Given the description of an element on the screen output the (x, y) to click on. 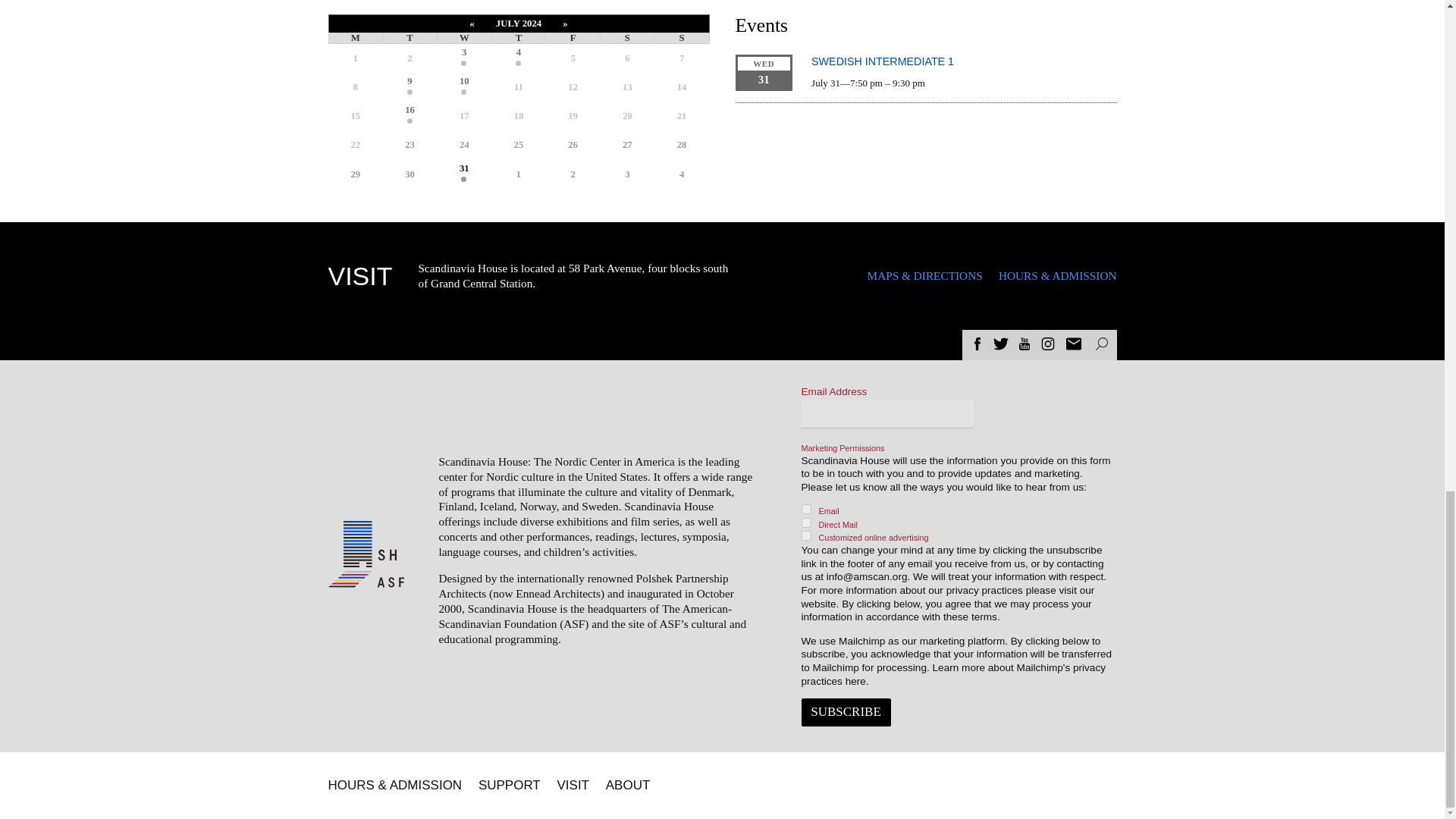
See Scandinavia House on Facebook (976, 345)
Twitter (1000, 343)
Y (805, 535)
Instagram (1048, 343)
YouTube (1023, 343)
Subscribe (844, 712)
Y (805, 509)
Newsletter (1073, 343)
Facebook (976, 343)
Visit American-Scandinavian Foundation (365, 588)
Search (1100, 343)
Y (805, 522)
Logo - Scandinavia House (369, 543)
See Scandinavia House on Twitter (1000, 345)
See Scandinavia House on Youtube (1023, 345)
